Given the description of an element on the screen output the (x, y) to click on. 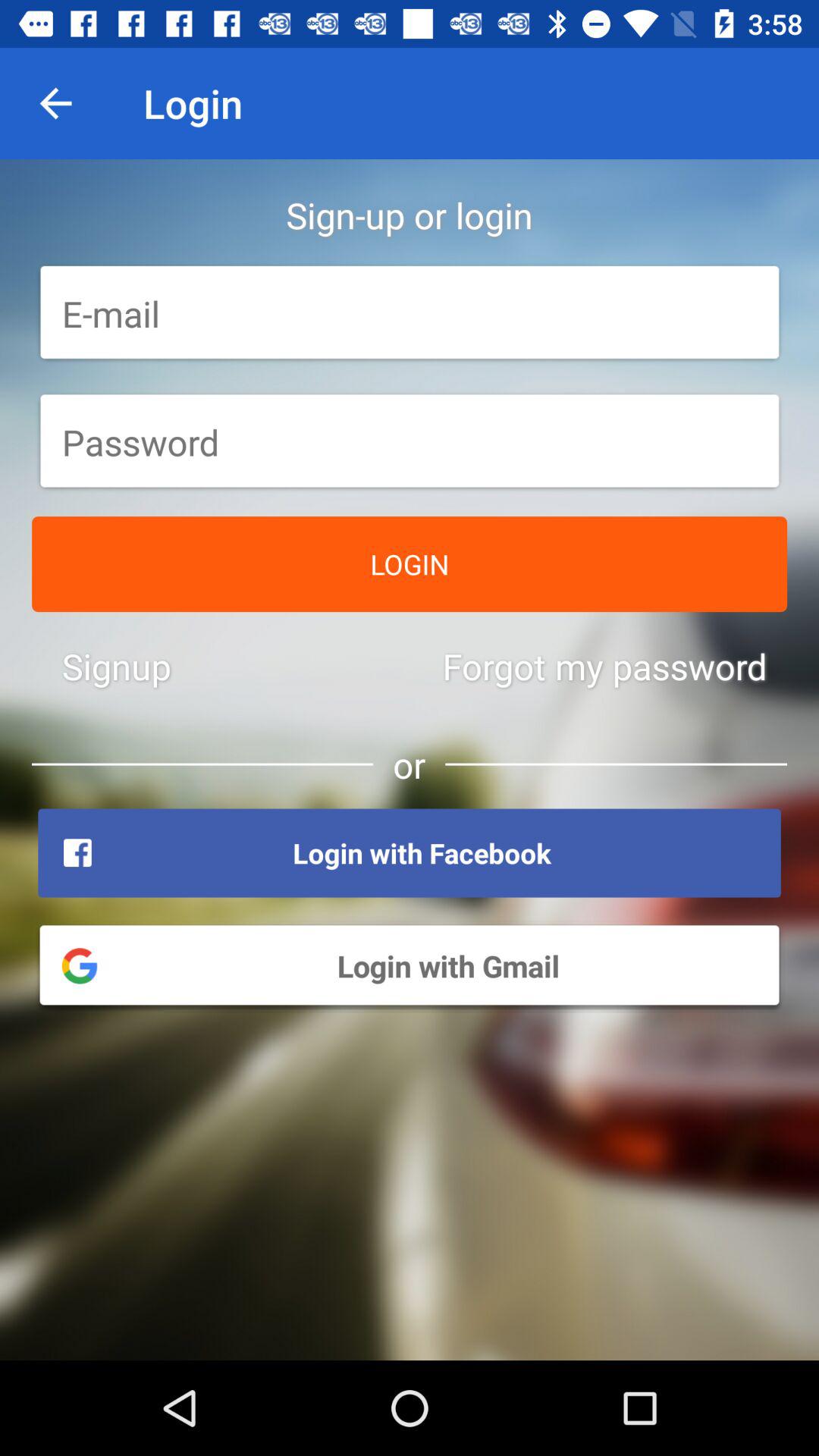
open the icon below login (116, 665)
